Given the description of an element on the screen output the (x, y) to click on. 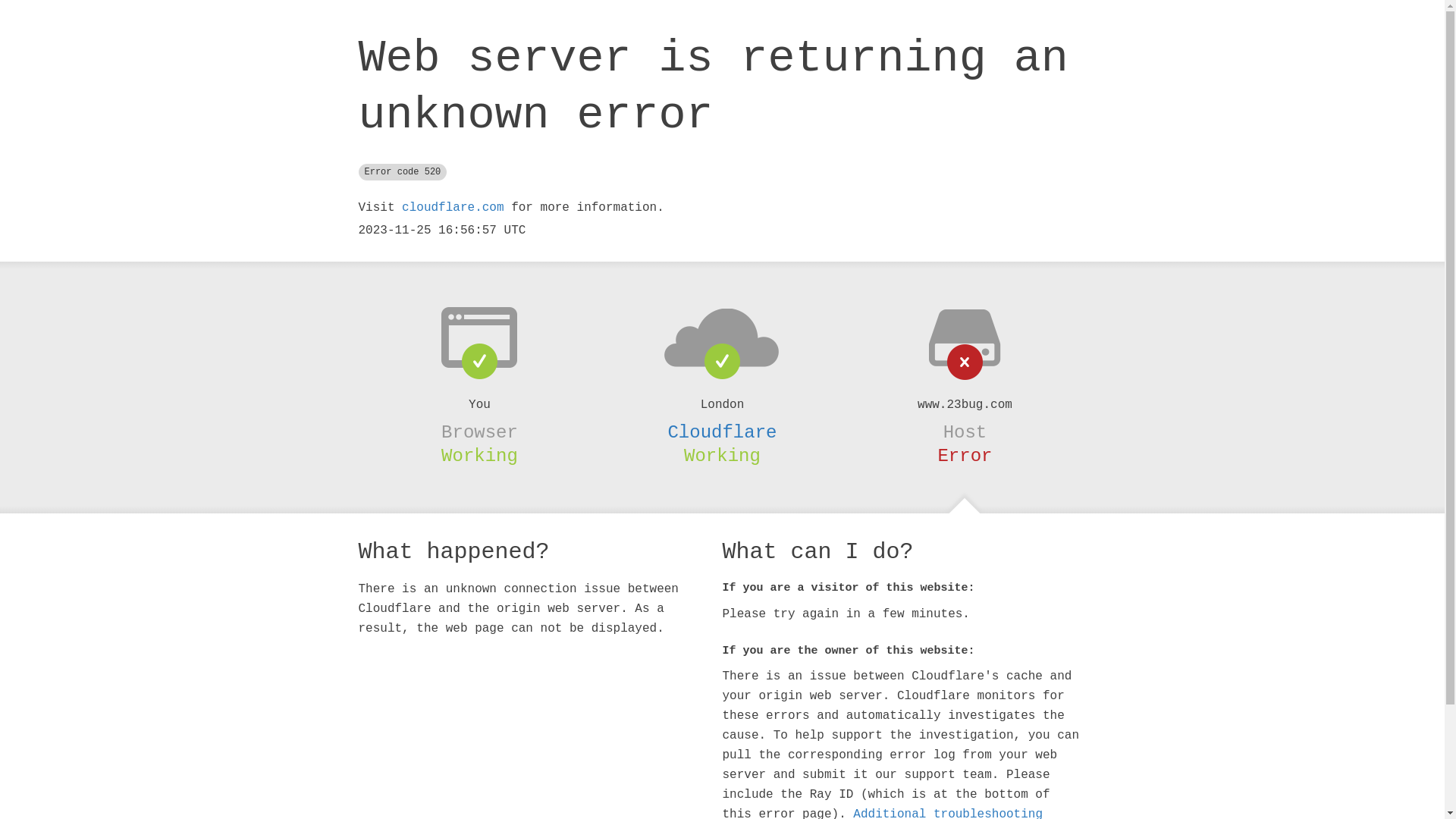
cloudflare.com Element type: text (452, 207)
Cloudflare Element type: text (721, 432)
